Given the description of an element on the screen output the (x, y) to click on. 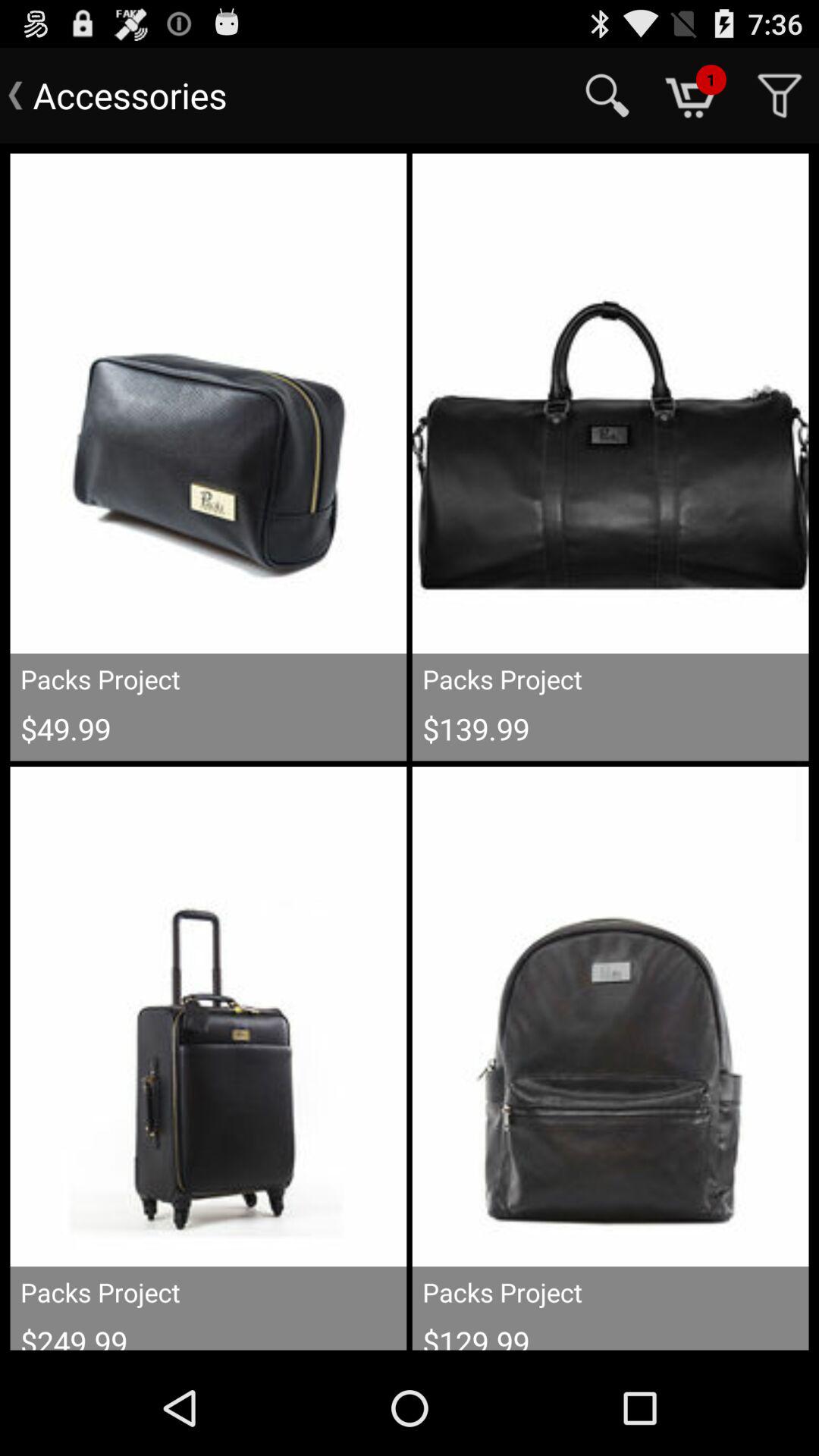
launch the item next to the accessories item (607, 95)
